Given the description of an element on the screen output the (x, y) to click on. 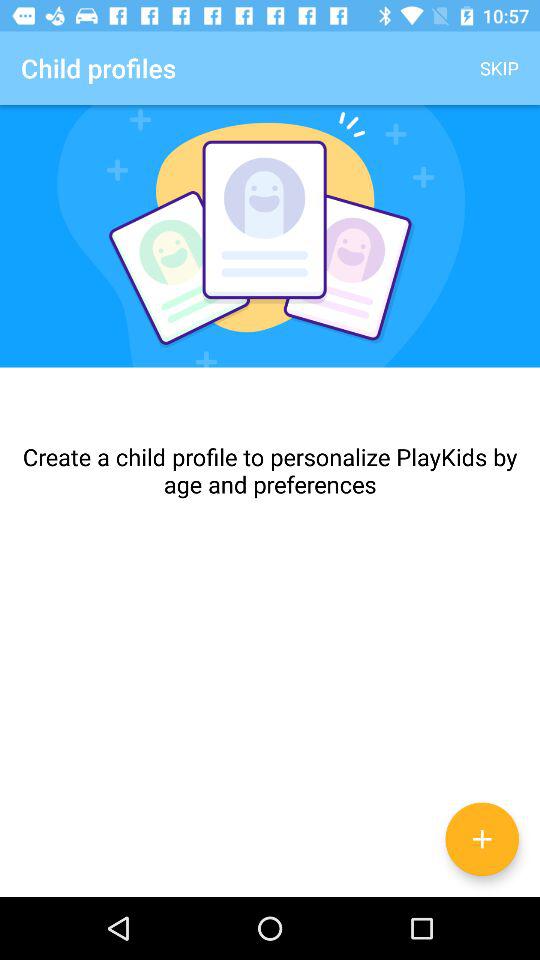
turn off icon next to the child profiles (499, 67)
